Given the description of an element on the screen output the (x, y) to click on. 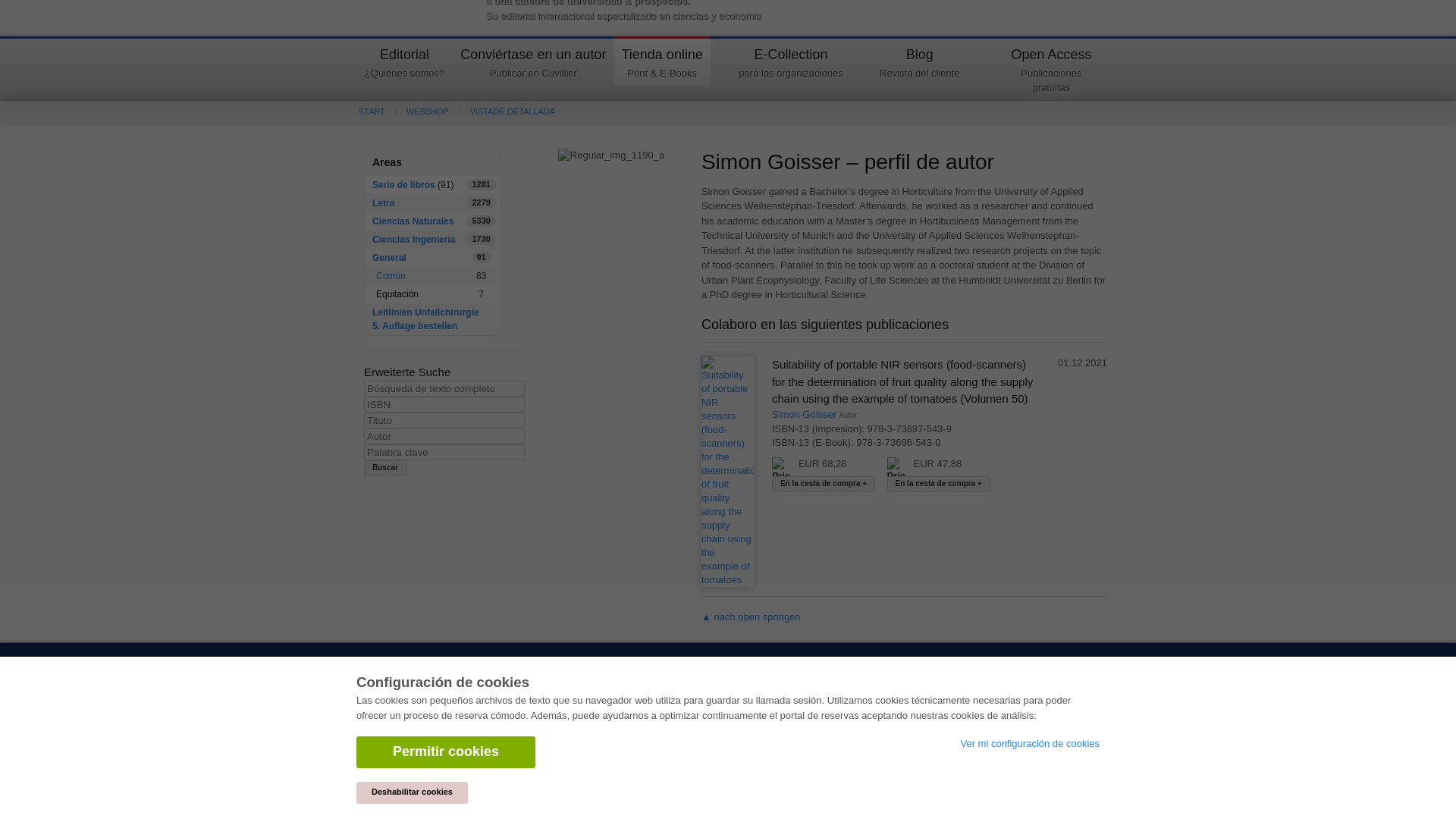
Serie de libros (403, 184)
Deshabilitar cookies (411, 705)
VISTADE DETALLADA (1051, 70)
eBook (508, 111)
Permitir cookies (895, 466)
Buscar (445, 664)
WEBSHOP (385, 467)
Letra (422, 111)
General (383, 203)
